Given the description of an element on the screen output the (x, y) to click on. 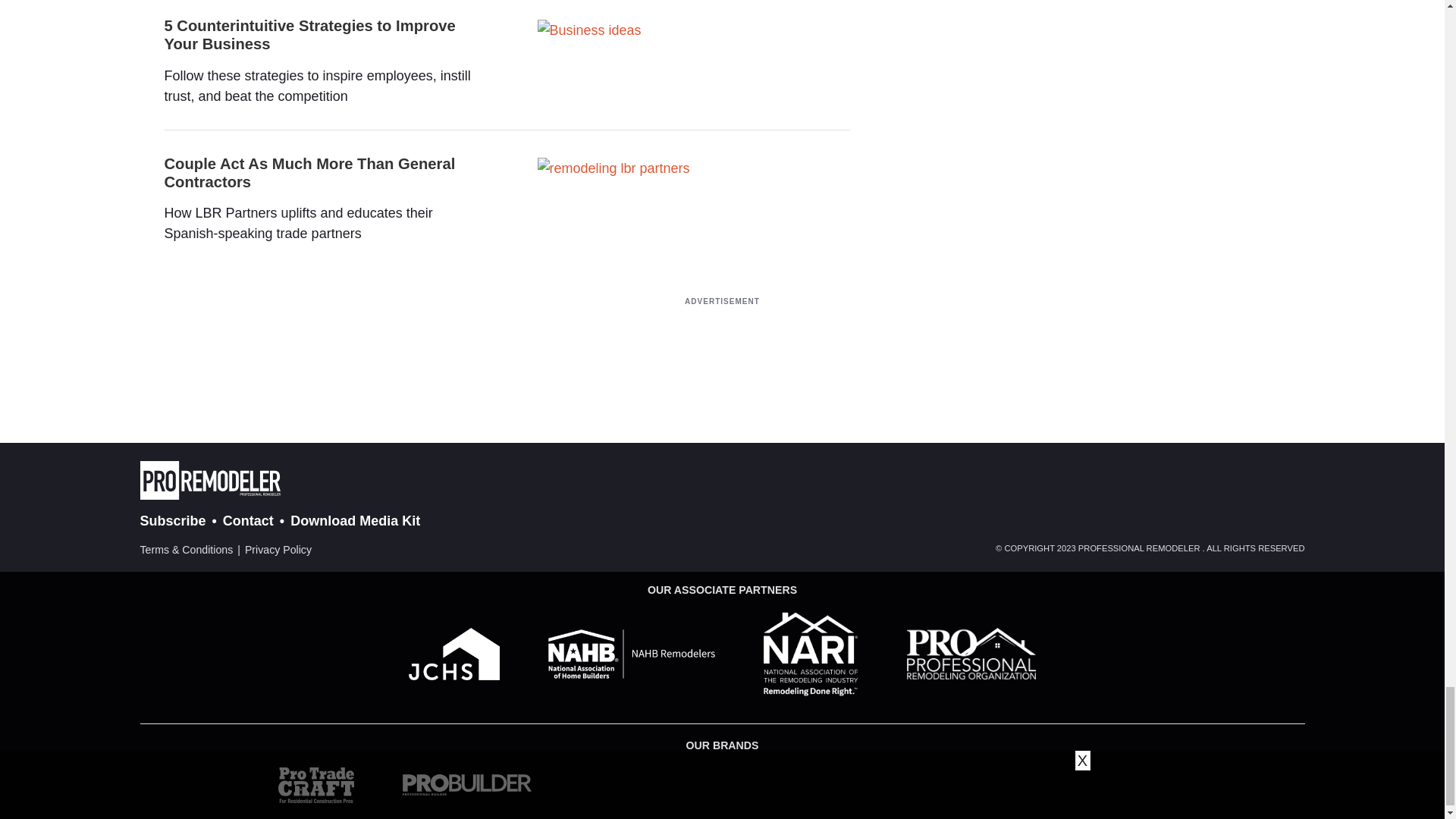
3rd party ad content (721, 347)
Terms and Conditions (185, 549)
Adobe Stock Image (588, 30)
Privacy Policy  (277, 549)
